Given the description of an element on the screen output the (x, y) to click on. 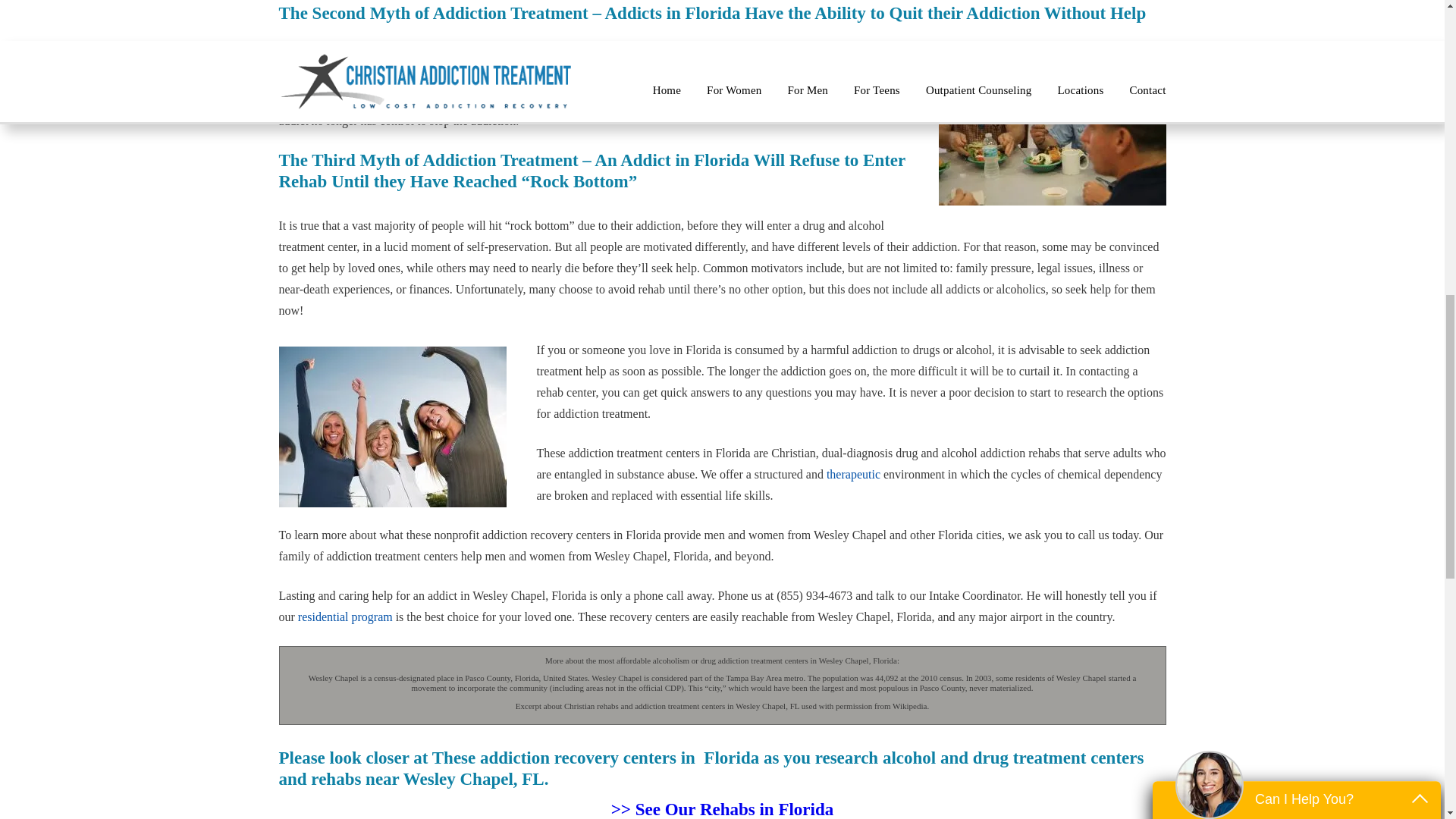
therapeutic (853, 473)
